Given the description of an element on the screen output the (x, y) to click on. 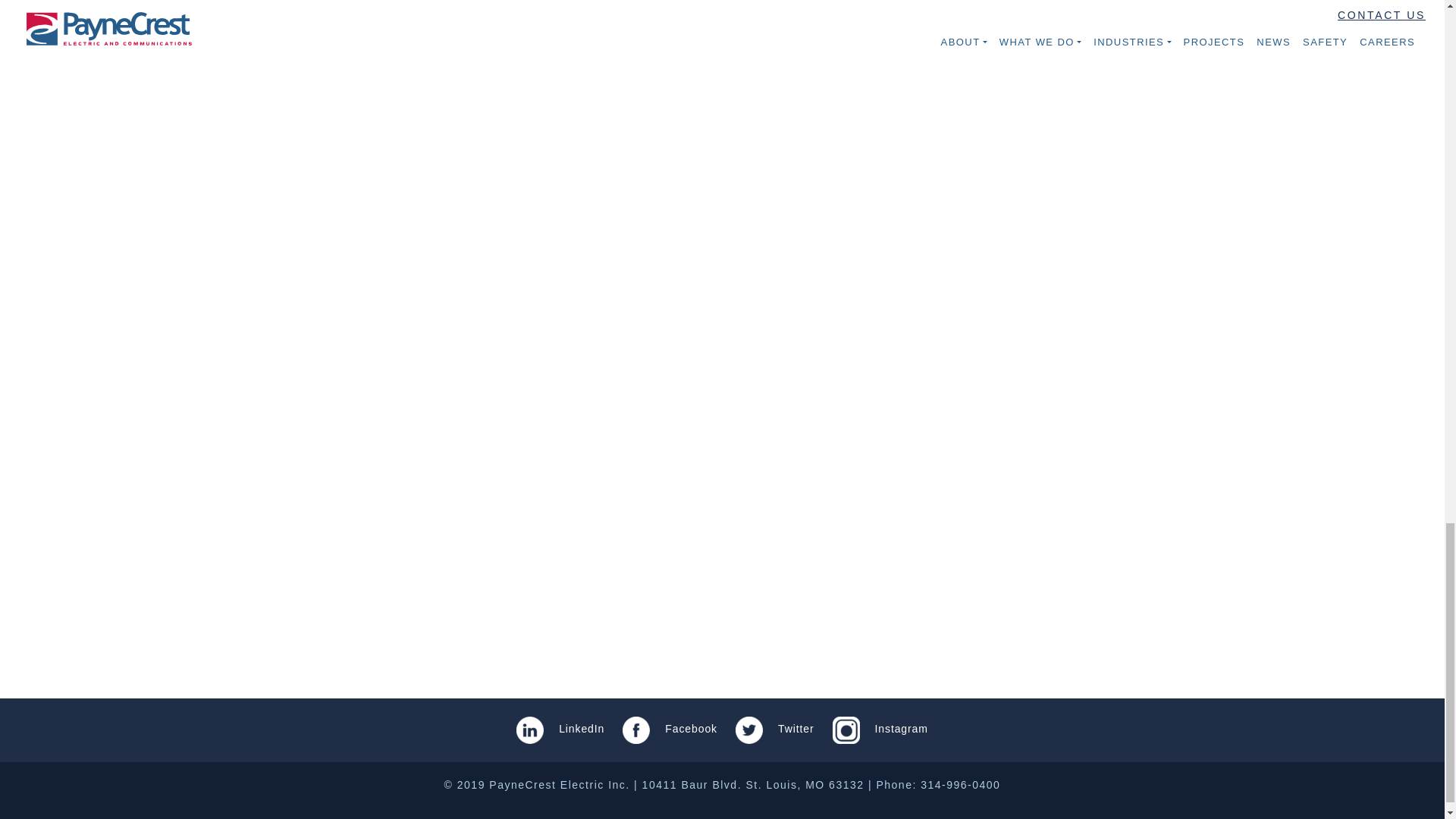
LinkedIn (560, 728)
Instagram (880, 728)
Twitter (774, 728)
Facebook (670, 728)
